Given the description of an element on the screen output the (x, y) to click on. 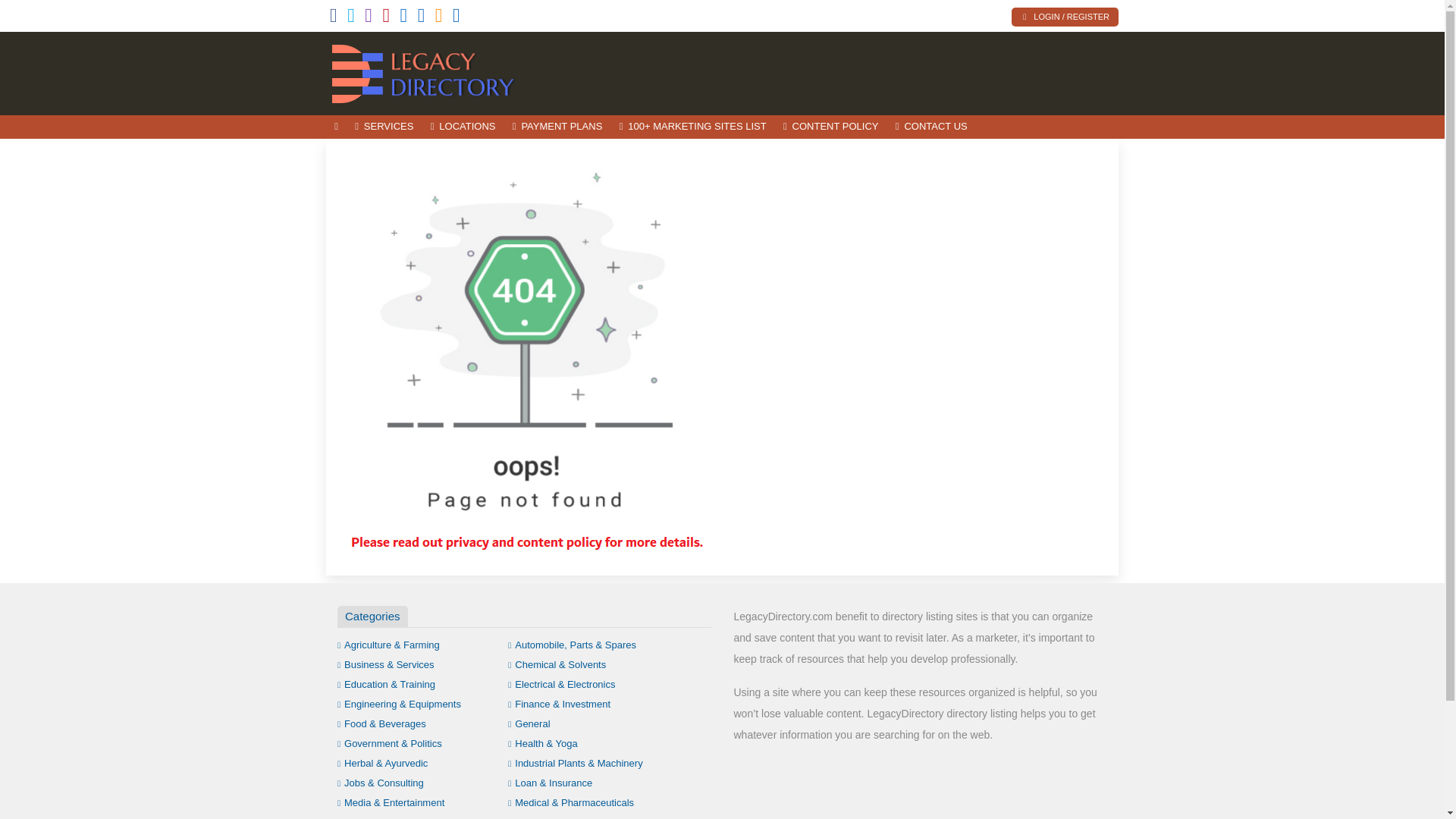
CONTACT US (930, 126)
LOCATIONS (462, 126)
General (529, 723)
PAYMENT PLANS (557, 126)
CONTENT POLICY (830, 126)
SERVICES (384, 126)
